Given the description of an element on the screen output the (x, y) to click on. 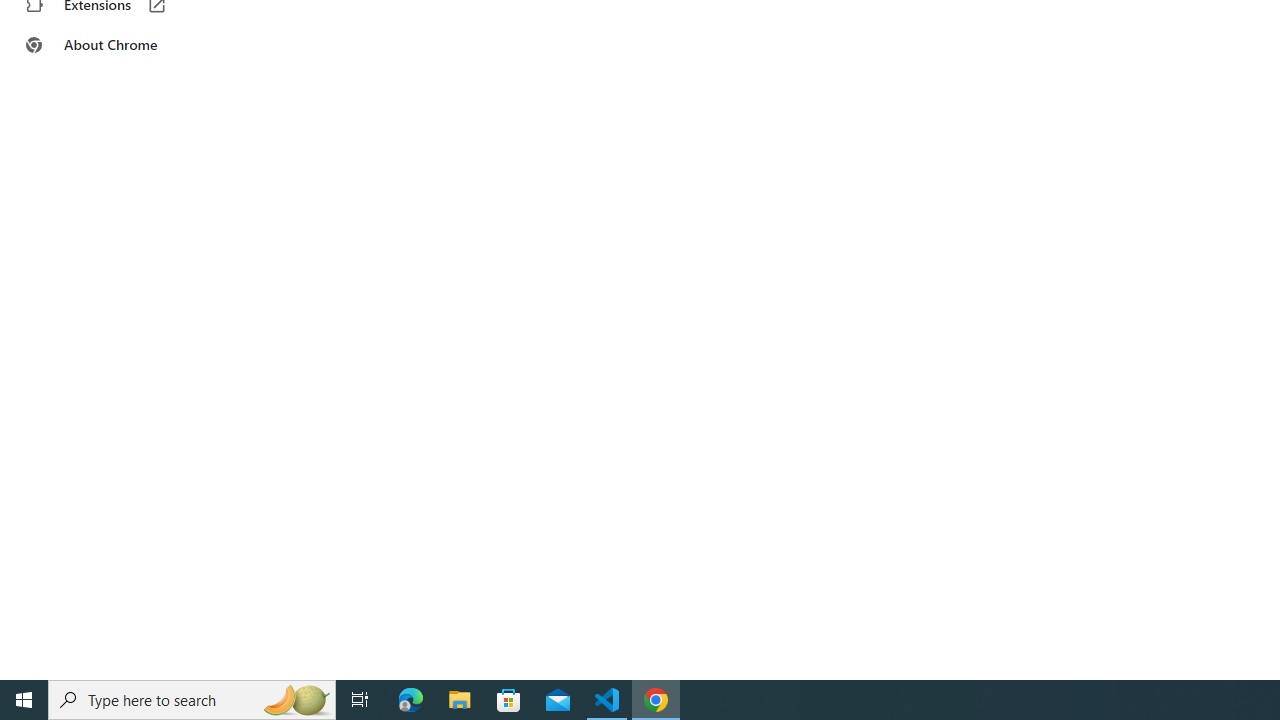
Visual Studio Code - 1 running window (607, 699)
Google Chrome - 1 running window (656, 699)
About Chrome (124, 44)
Start (24, 699)
Microsoft Edge (411, 699)
Type here to search (191, 699)
Microsoft Store (509, 699)
File Explorer (460, 699)
Search highlights icon opens search home window (295, 699)
Task View (359, 699)
